Given the description of an element on the screen output the (x, y) to click on. 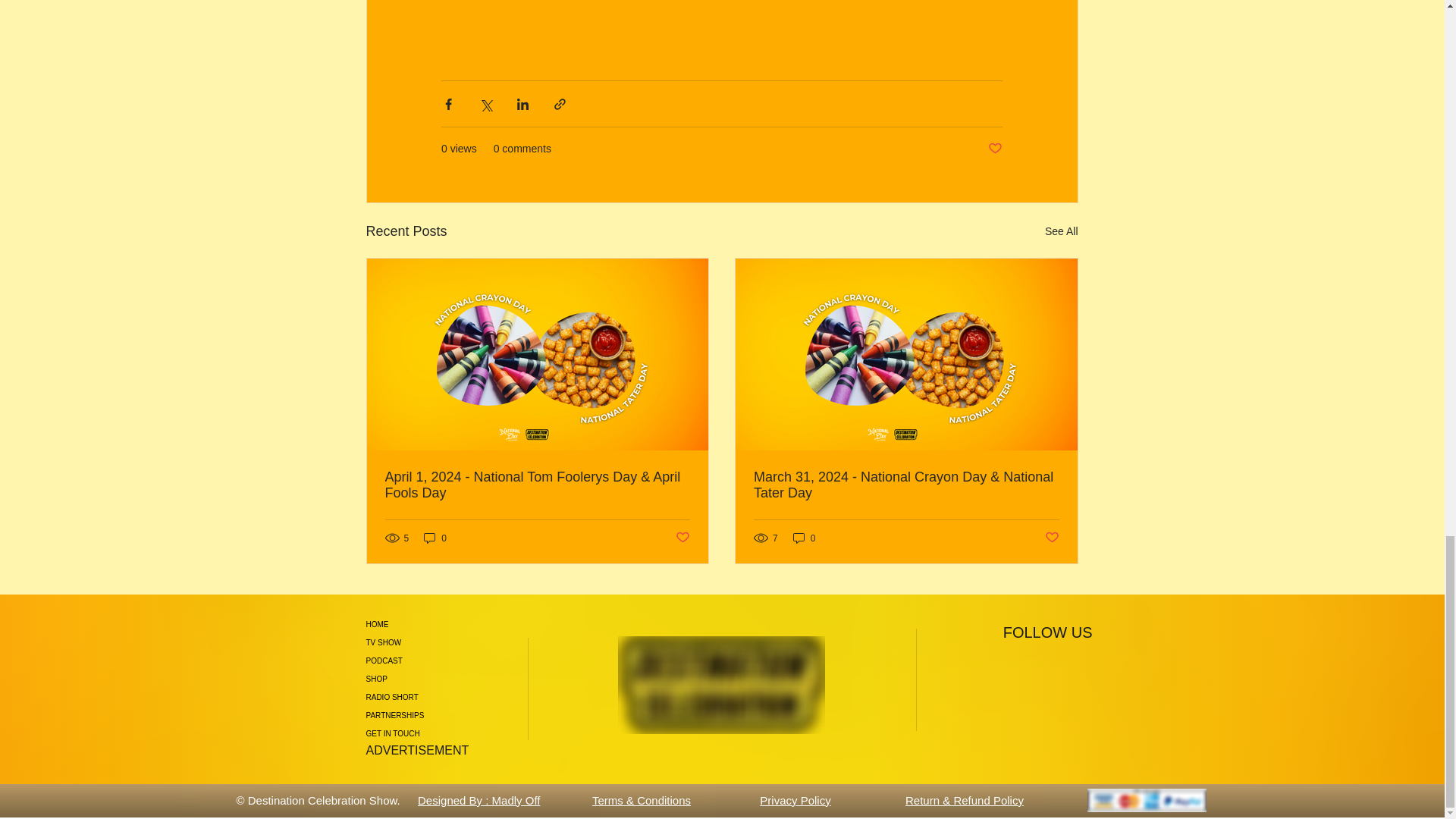
0 (435, 537)
See All (1061, 231)
Post not marked as liked (1052, 537)
Post not marked as liked (682, 537)
Post not marked as liked (995, 148)
Destination Celebration Show Logo (720, 684)
0 (804, 537)
